Given the description of an element on the screen output the (x, y) to click on. 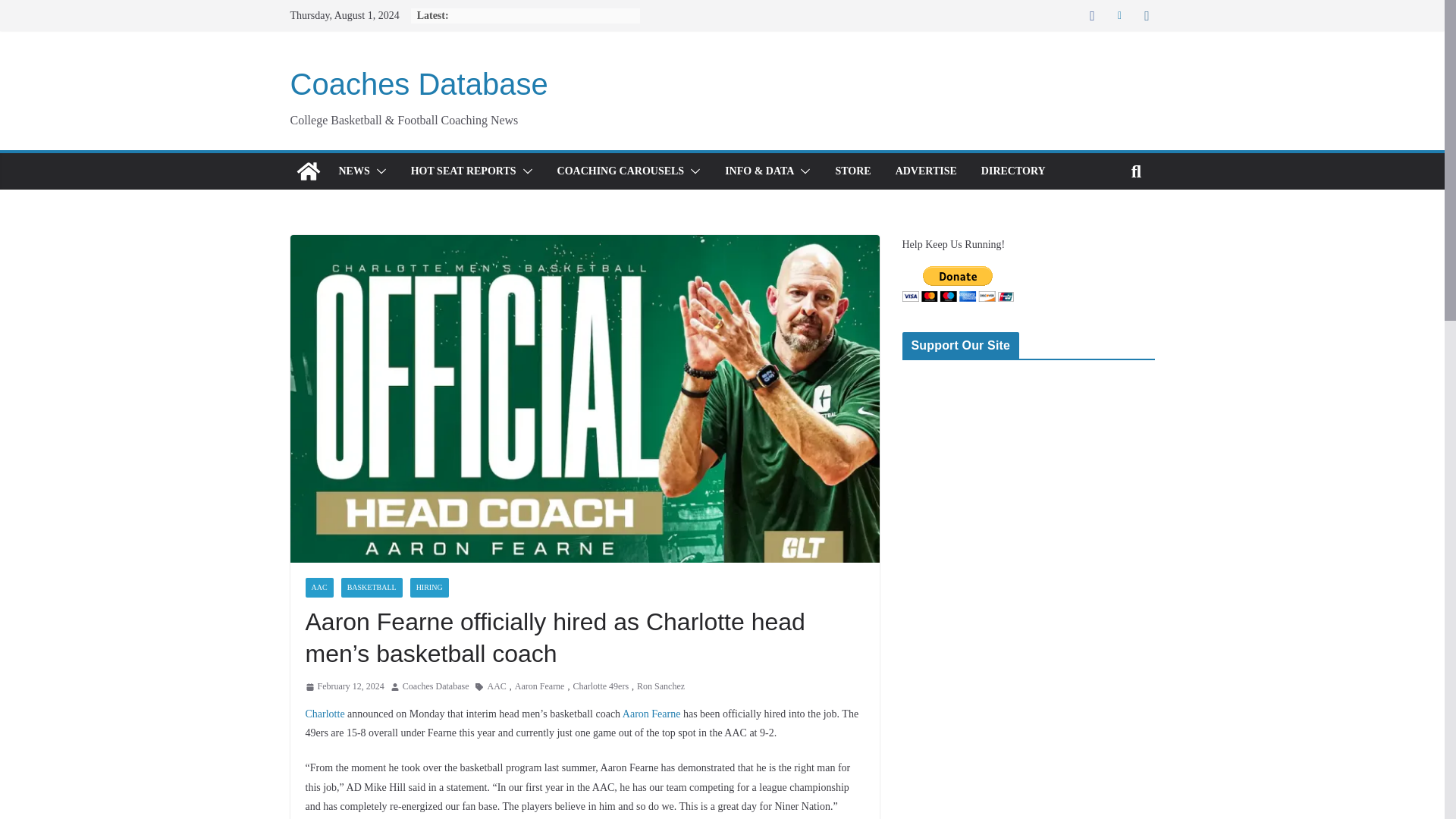
COACHING CAROUSELS (620, 170)
February 12, 2024 (344, 686)
Charlotte 49ers (600, 686)
HOT SEAT REPORTS (463, 170)
AAC (318, 587)
Coaches Database (418, 83)
Coaches Database (435, 686)
DIRECTORY (1013, 170)
NEWS (353, 170)
ADVERTISE (925, 170)
Coaches Database (307, 171)
Aaron Fearne (539, 686)
Coaches Database (418, 83)
Ron Sanchez (660, 686)
Coaches Database (435, 686)
